Given the description of an element on the screen output the (x, y) to click on. 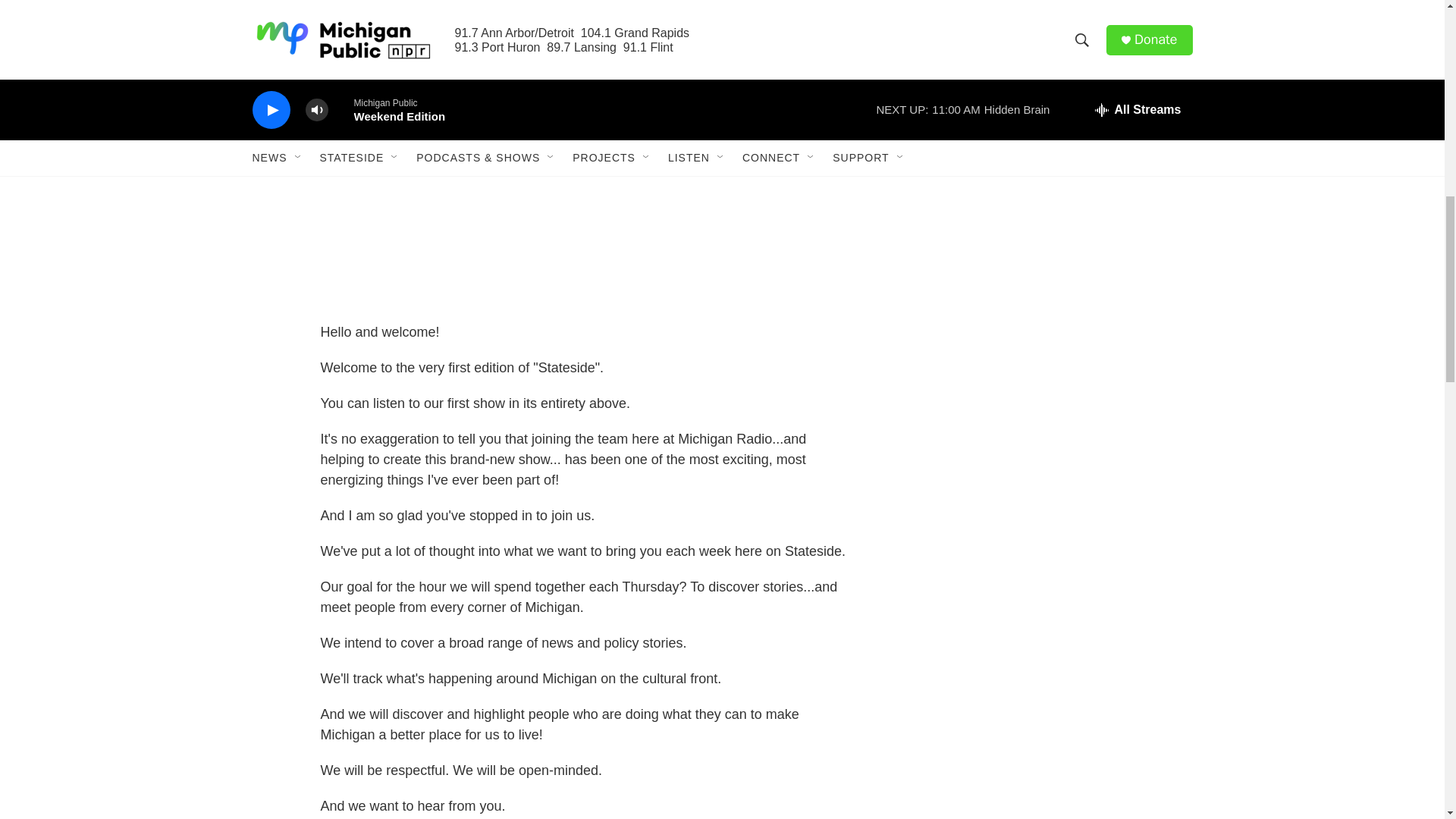
3rd party ad content (1062, 493)
3rd party ad content (1062, 273)
